Given the description of an element on the screen output the (x, y) to click on. 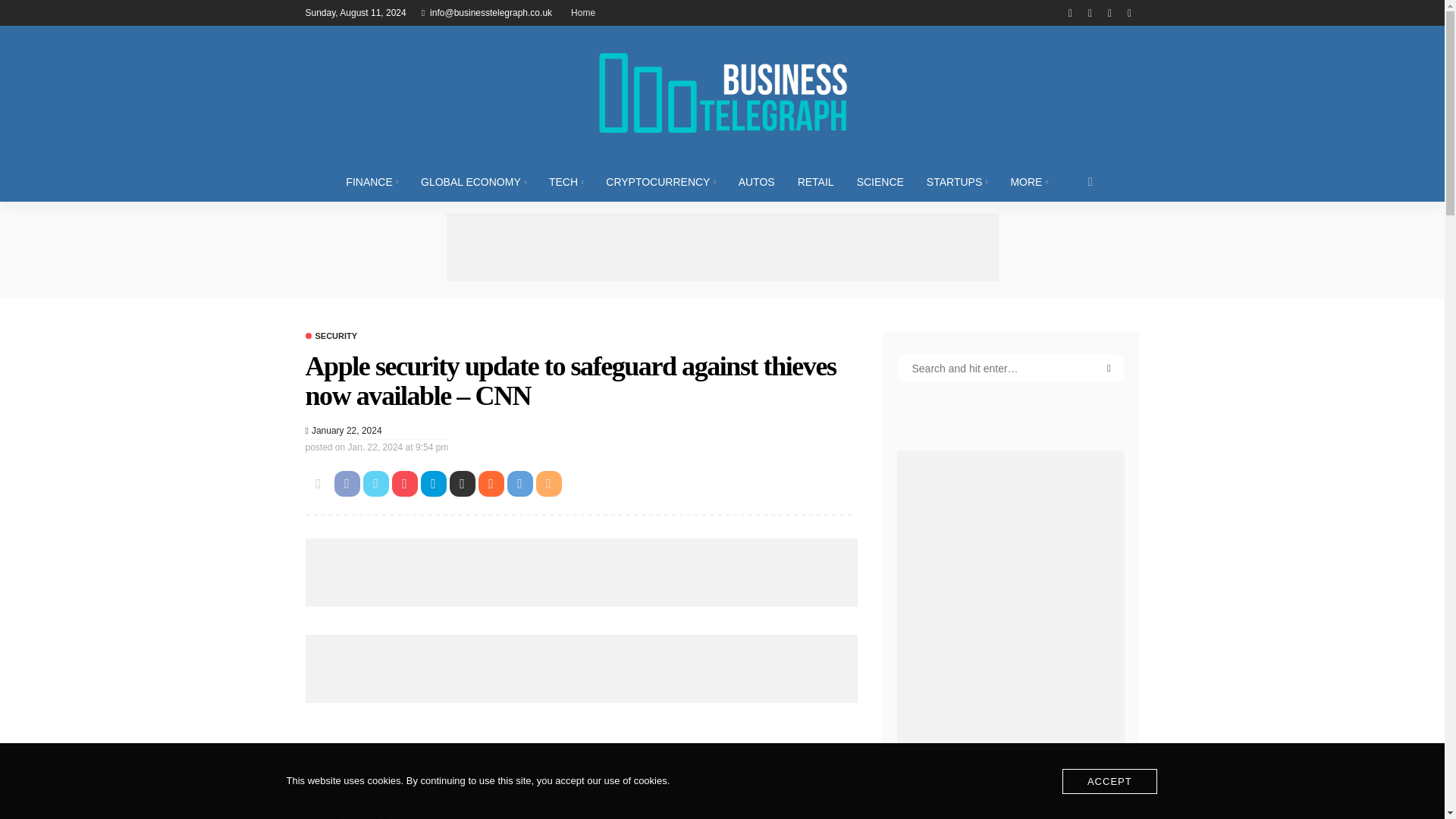
Advertisement (721, 246)
security (330, 336)
Advertisement (580, 757)
Advertisement (580, 572)
search (1089, 181)
FINANCE (371, 181)
Business Telegraph (721, 93)
Home (582, 12)
